Given the description of an element on the screen output the (x, y) to click on. 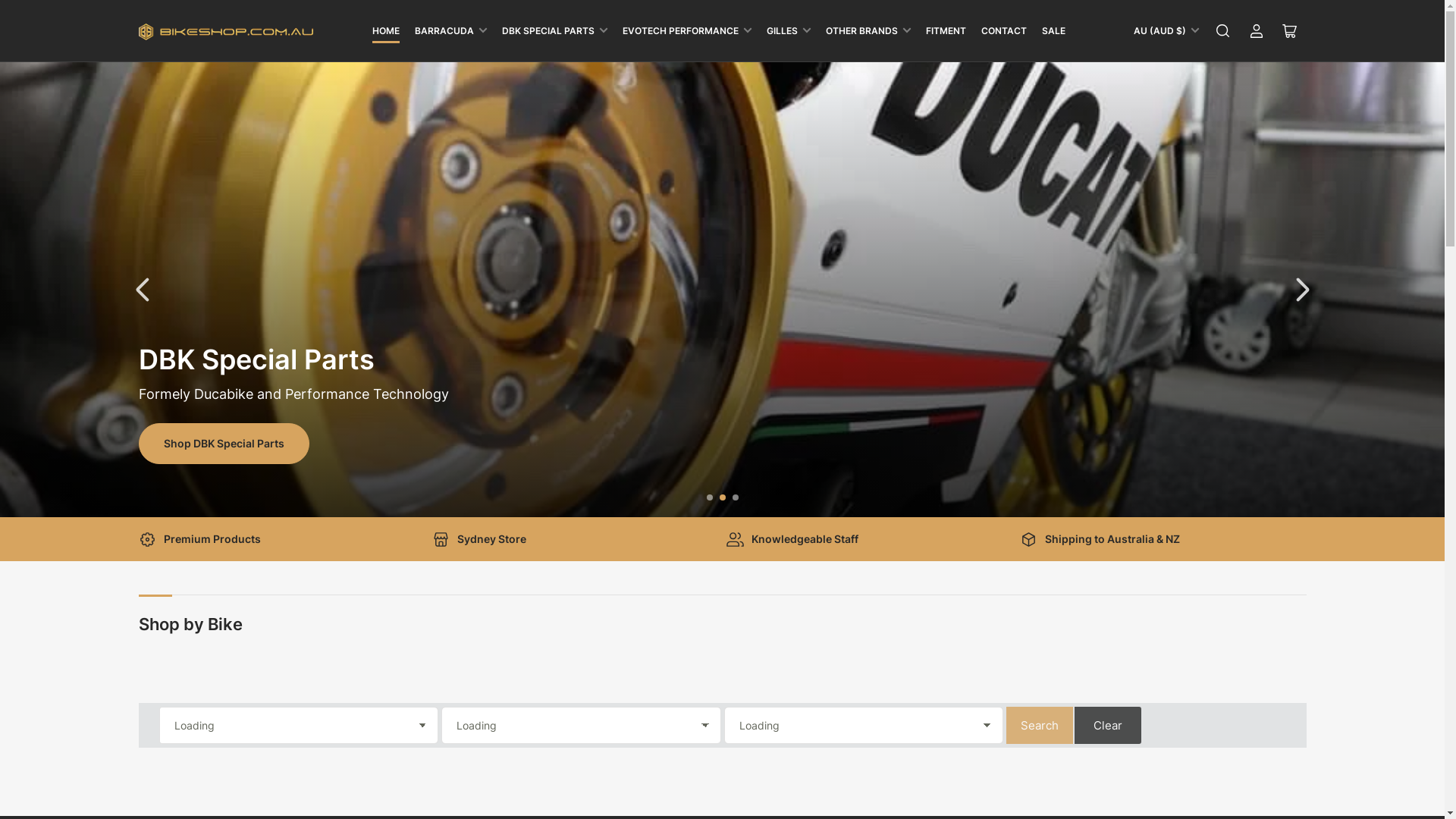
DBK SPECIAL PARTS Element type: text (554, 30)
BARRACUDA Element type: text (450, 30)
CONTACT Element type: text (1003, 30)
OTHER BRANDS Element type: text (867, 30)
Search Element type: text (1039, 724)
EVOTECH PERFORMANCE Element type: text (685, 30)
SALE Element type: text (1053, 30)
GILLES Element type: text (787, 30)
HOME Element type: text (384, 30)
Clear Element type: text (1107, 724)
Open mini cart Element type: text (1288, 30)
FITMENT Element type: text (945, 30)
Shop DBK Special Parts Element type: text (223, 443)
AU (AUD $) Element type: text (1165, 30)
Log in Element type: text (1255, 30)
Shop Large Product Range Element type: text (232, 443)
